Given the description of an element on the screen output the (x, y) to click on. 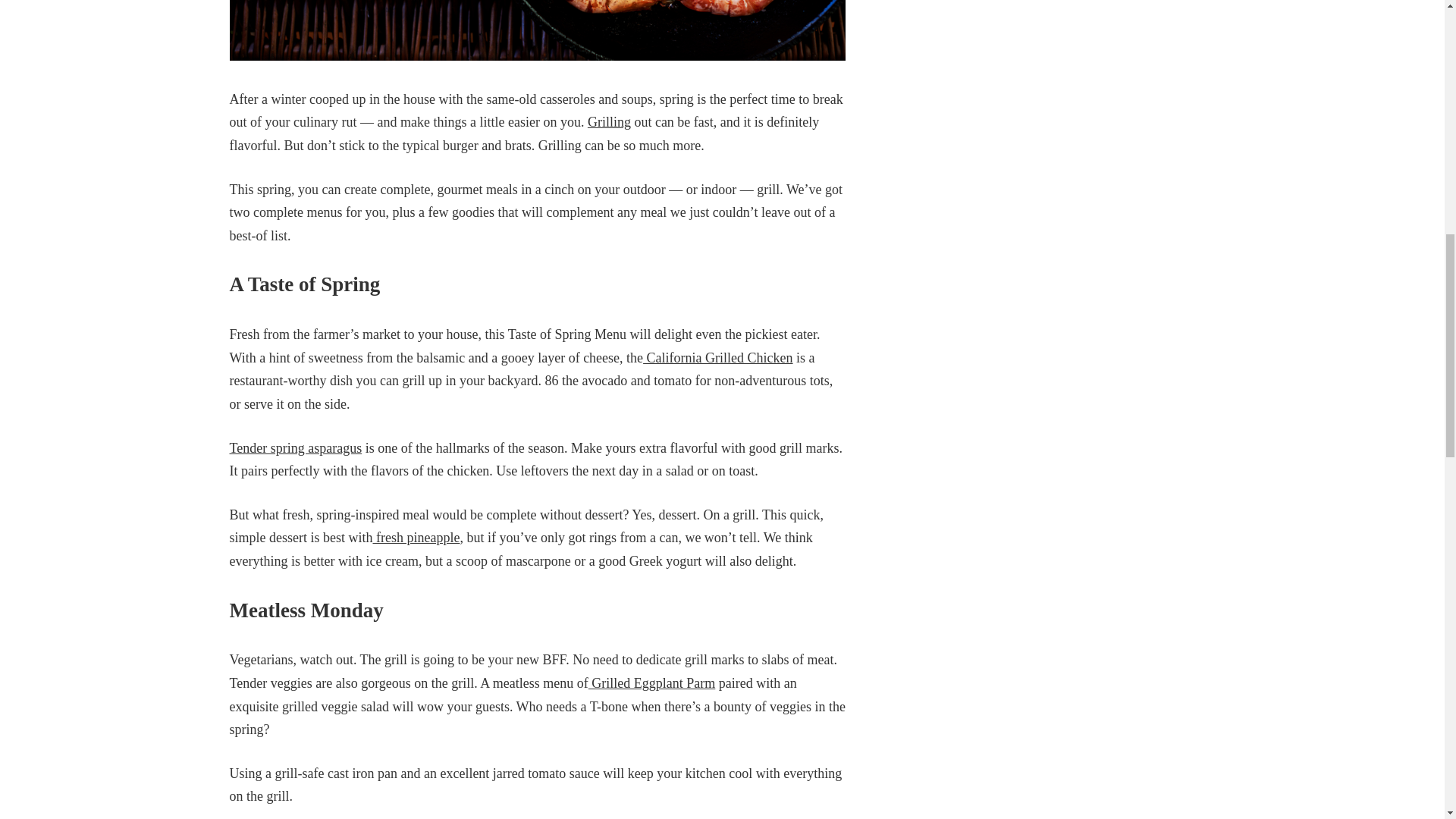
fresh pineapple (416, 537)
California Grilled Chicken (717, 357)
Grilling (609, 121)
Grilled Eggplant Parm (651, 683)
Tender spring asparagus (294, 447)
